Given the description of an element on the screen output the (x, y) to click on. 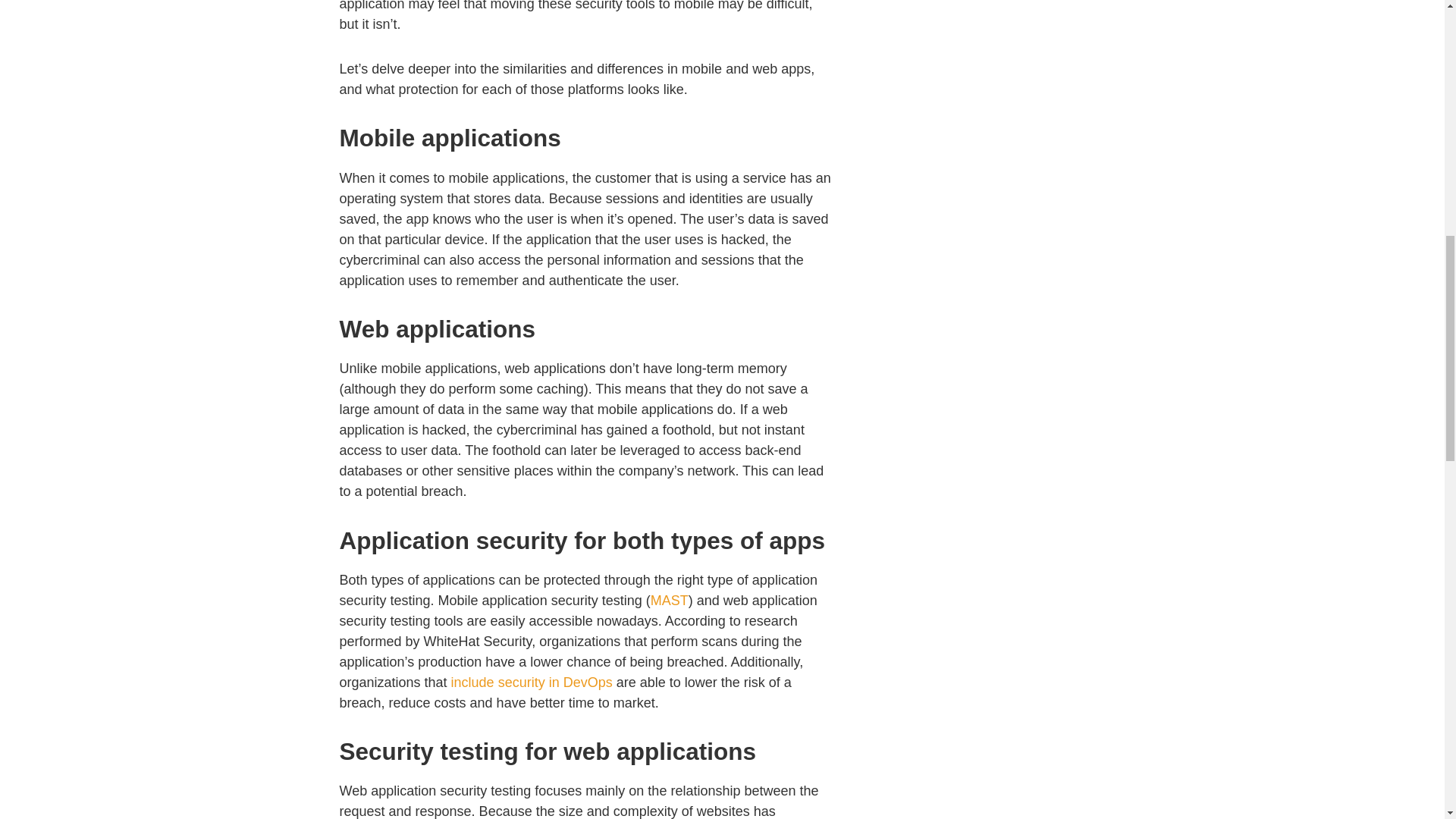
include security in DevOps (531, 682)
MAST (669, 600)
